Given the description of an element on the screen output the (x, y) to click on. 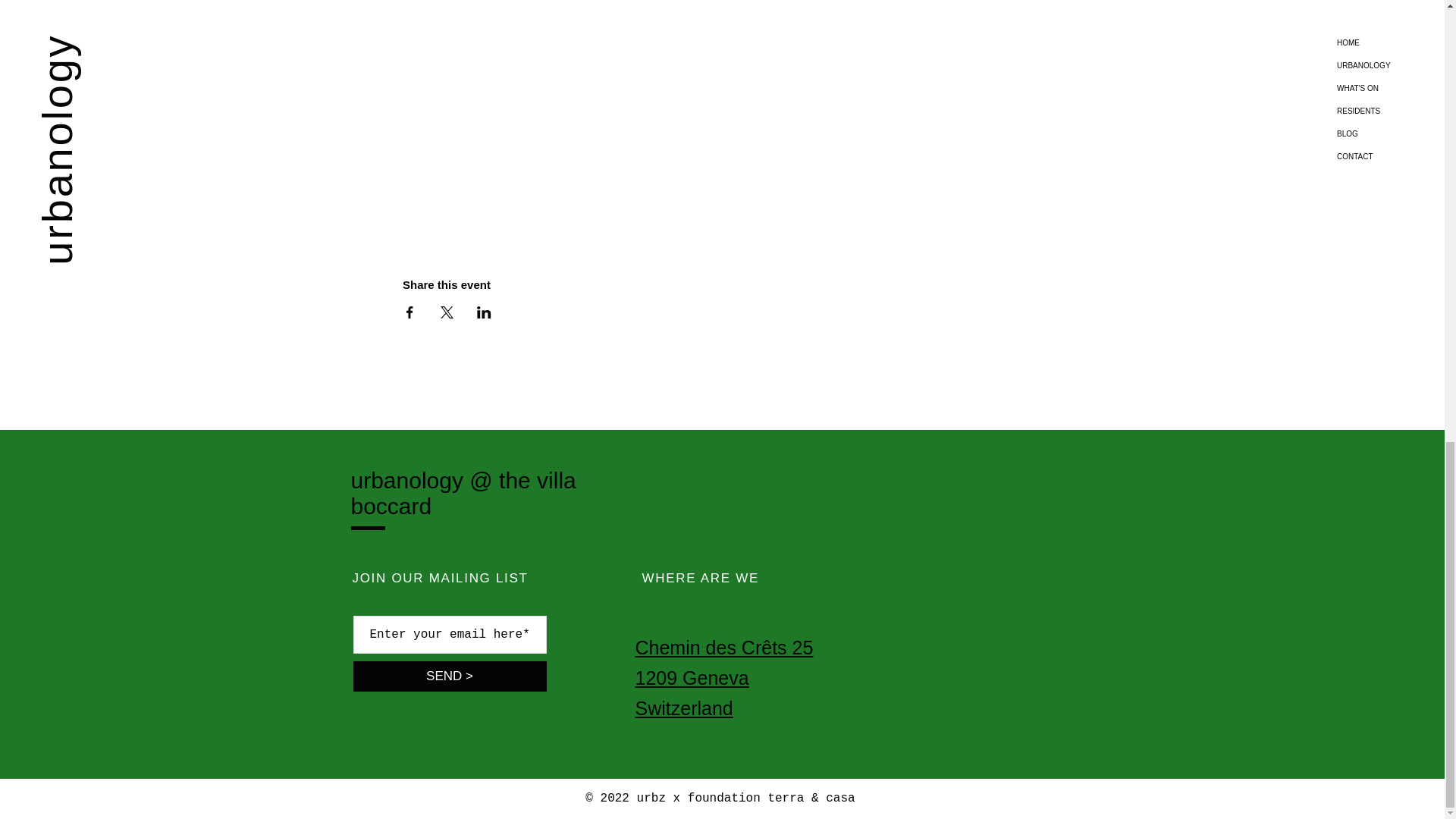
1209 Geneva (691, 677)
Switzerland (683, 708)
